Given the description of an element on the screen output the (x, y) to click on. 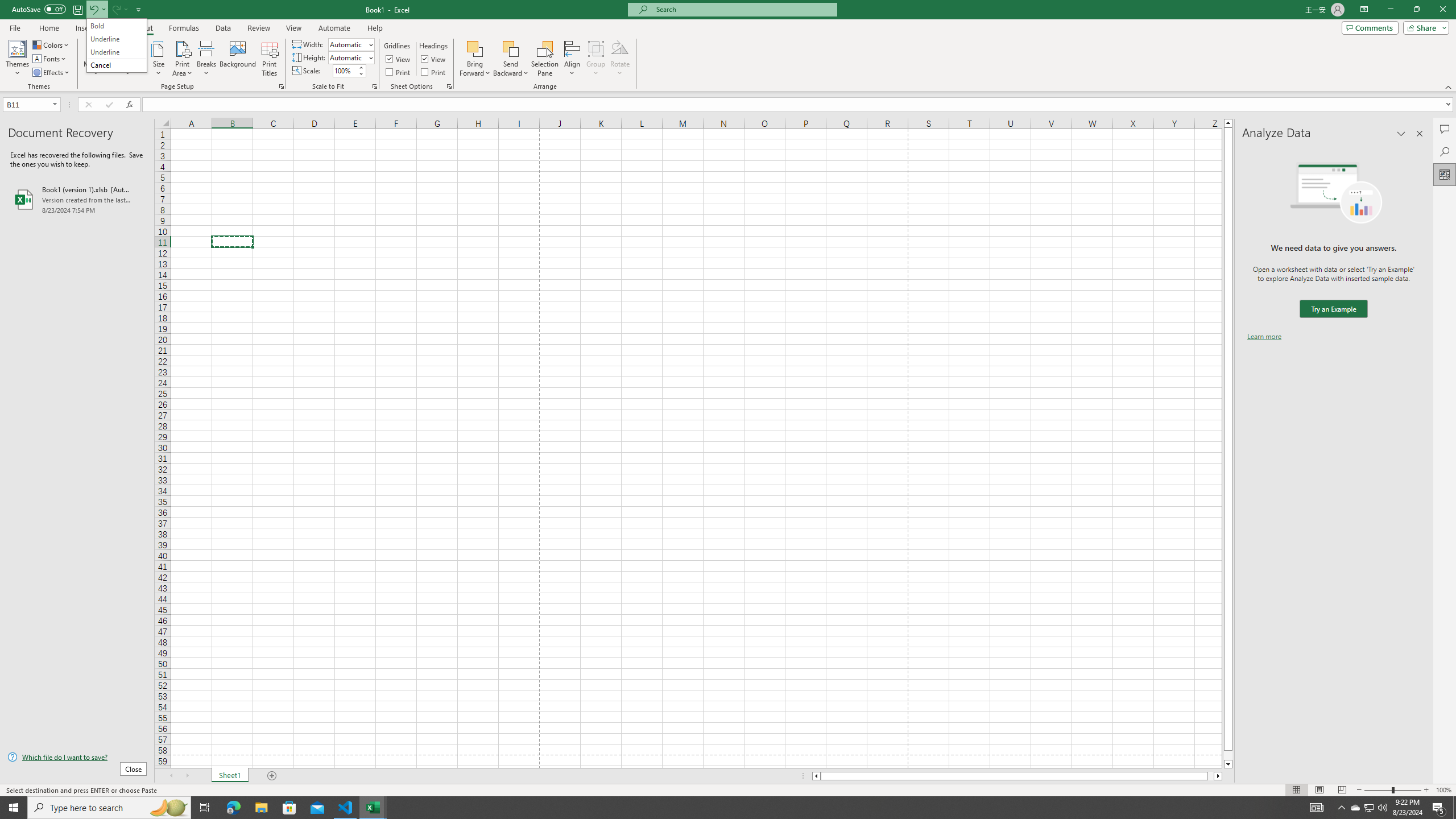
Effects (1368, 807)
&Undo (51, 72)
Sheet Options (116, 45)
Send Backward (449, 85)
Selection Pane... (510, 58)
